Given the description of an element on the screen output the (x, y) to click on. 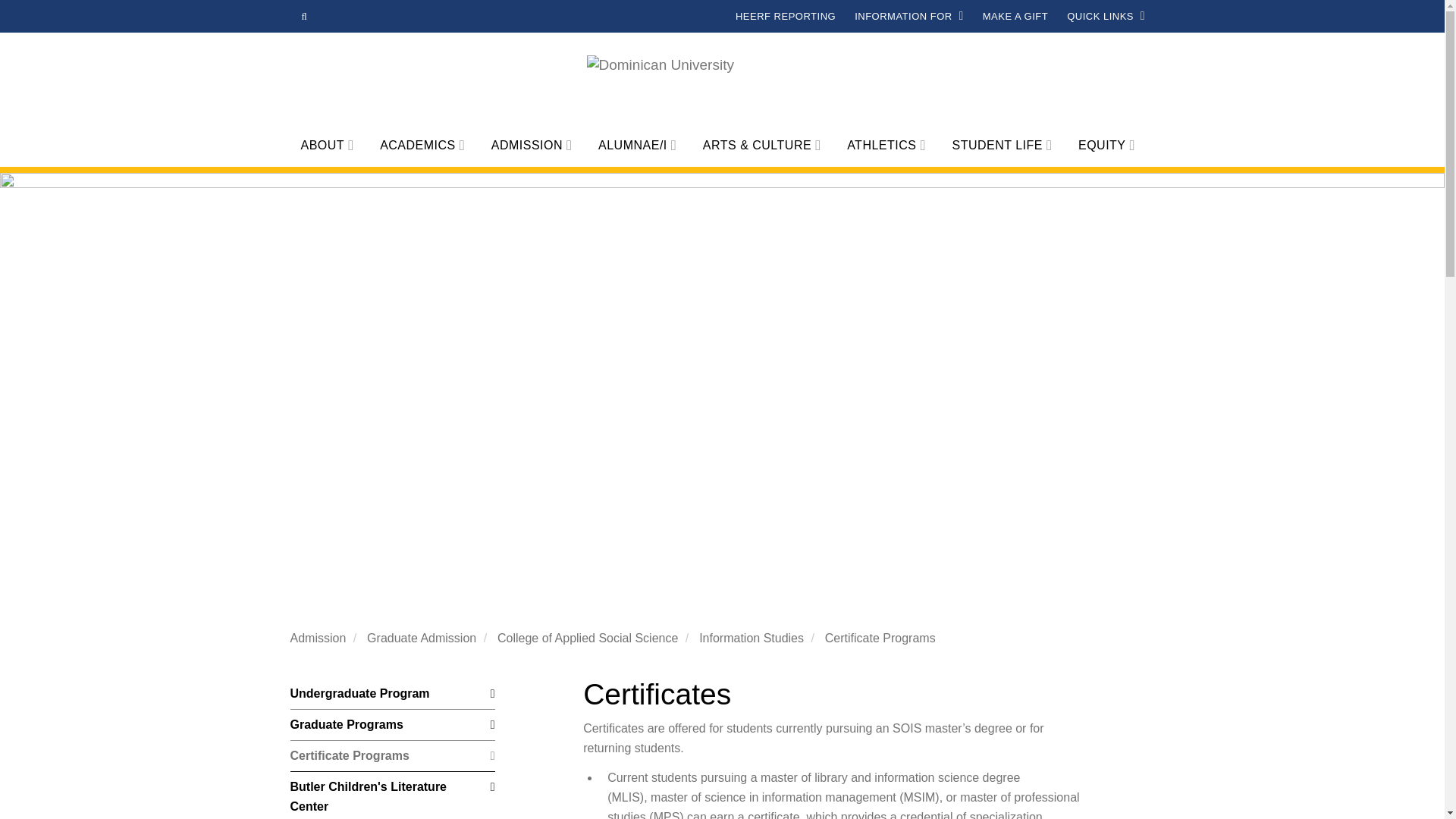
MAKE A GIFT (1014, 16)
Home (722, 84)
ABOUT (329, 145)
HEERF REPORTING (784, 16)
QUICK LINKS (1106, 16)
INFORMATION FOR (909, 16)
